Given the description of an element on the screen output the (x, y) to click on. 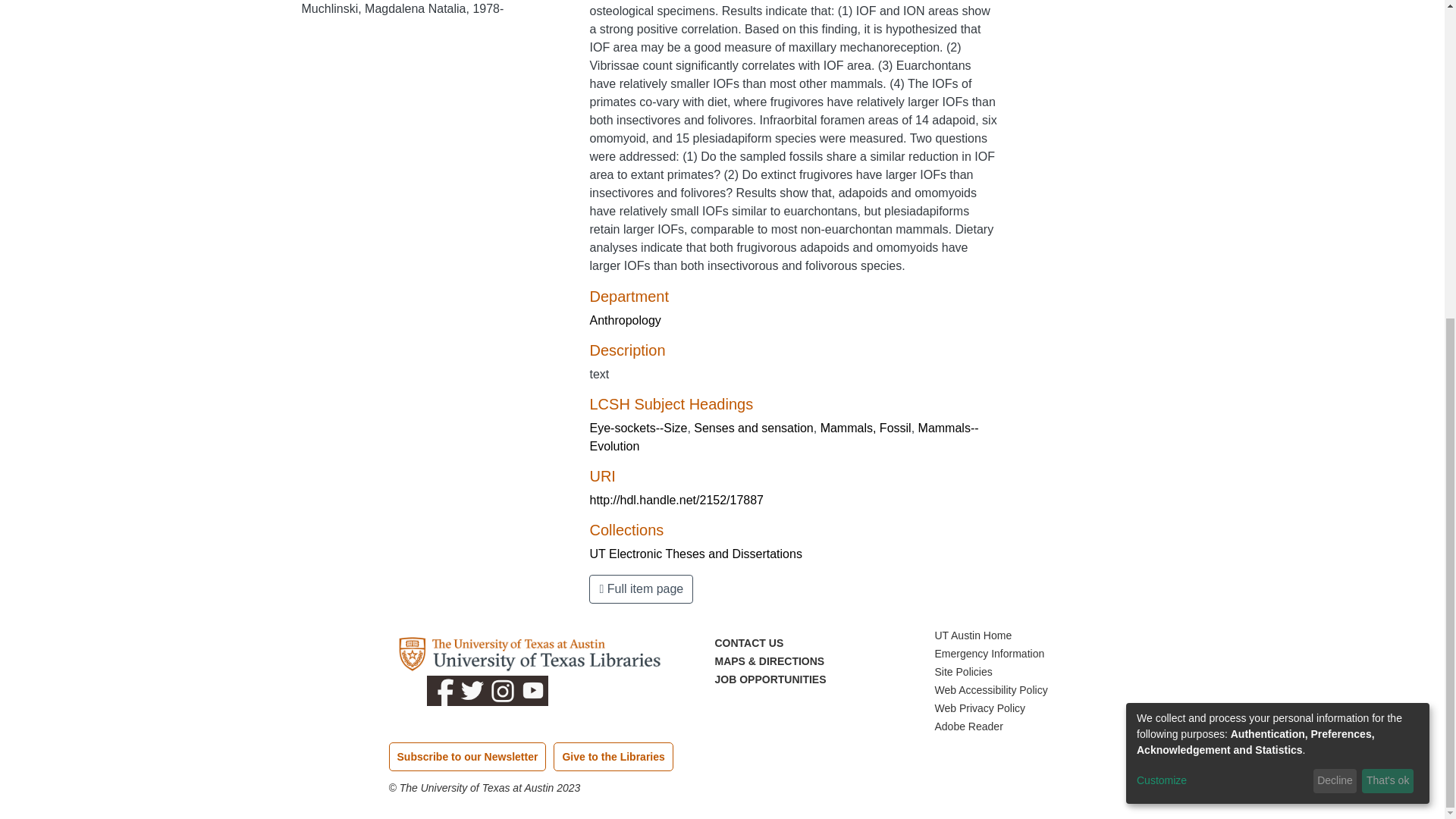
UT Austin Home (972, 635)
Mammals, Fossil (866, 427)
CONTACT US (748, 643)
Senses and sensation (753, 427)
Anthropology (625, 319)
JOB OPPORTUNITIES (769, 679)
Full item page (641, 588)
Mammals--Evolution (783, 436)
UT Electronic Theses and Dissertations (695, 553)
Eye-sockets--Size (638, 427)
